Given the description of an element on the screen output the (x, y) to click on. 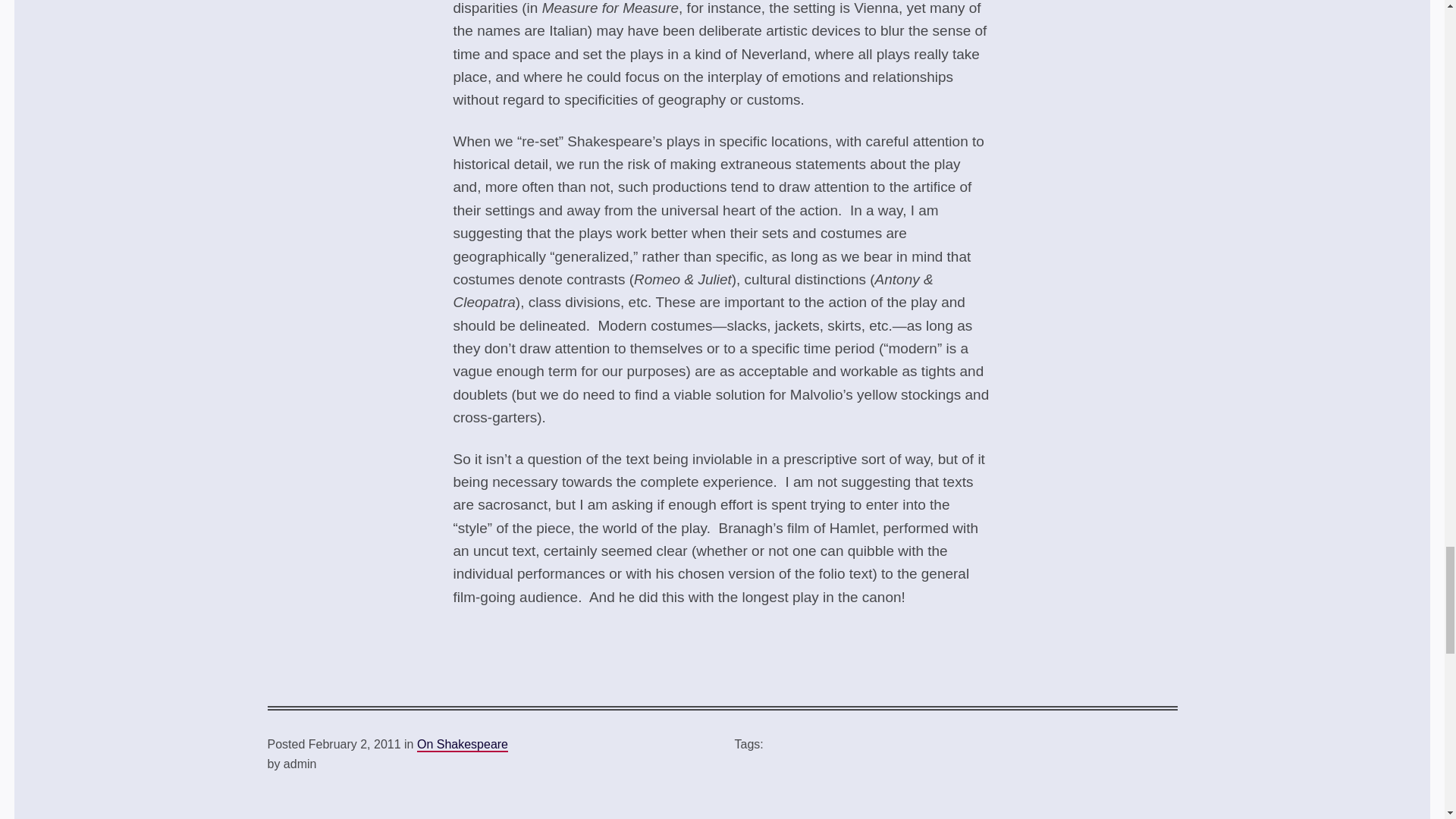
On Shakespeare (462, 744)
